Given the description of an element on the screen output the (x, y) to click on. 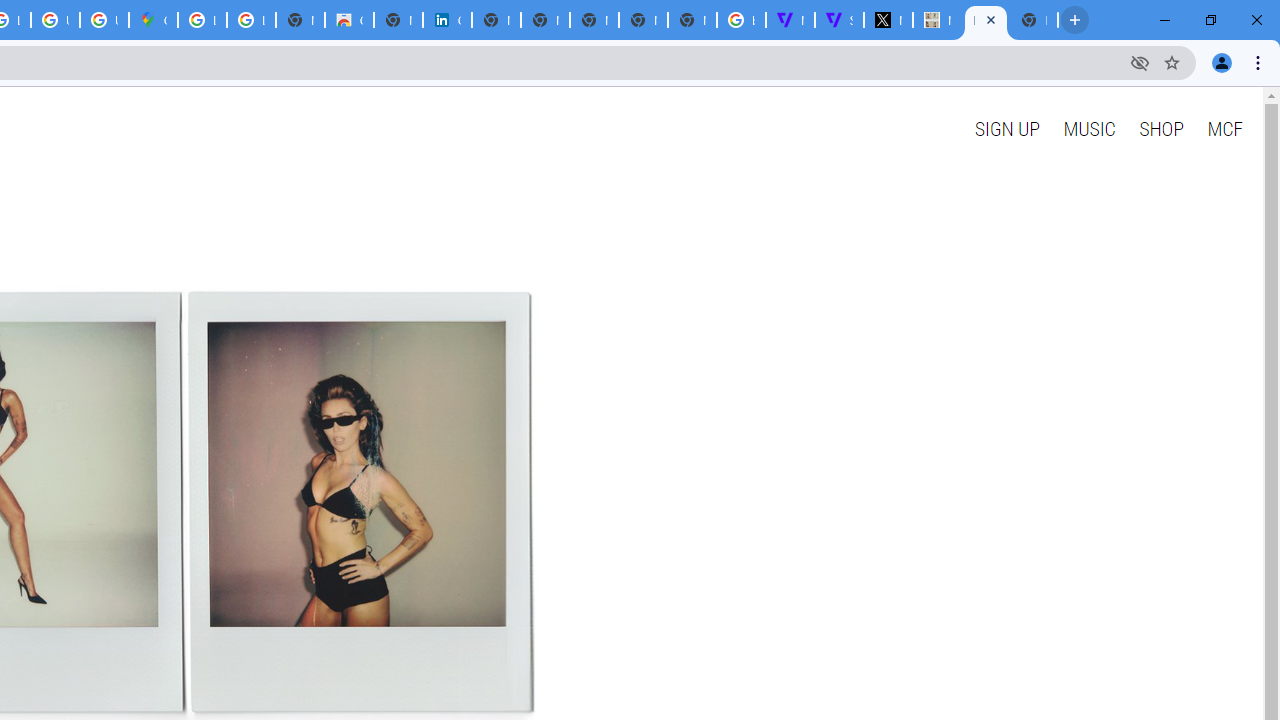
Streaming - The Verge (839, 20)
SIGN UP (1006, 128)
MCF (1224, 128)
New Tab (1033, 20)
MILEY CYRUS. (985, 20)
MUSIC (1089, 128)
